Given the description of an element on the screen output the (x, y) to click on. 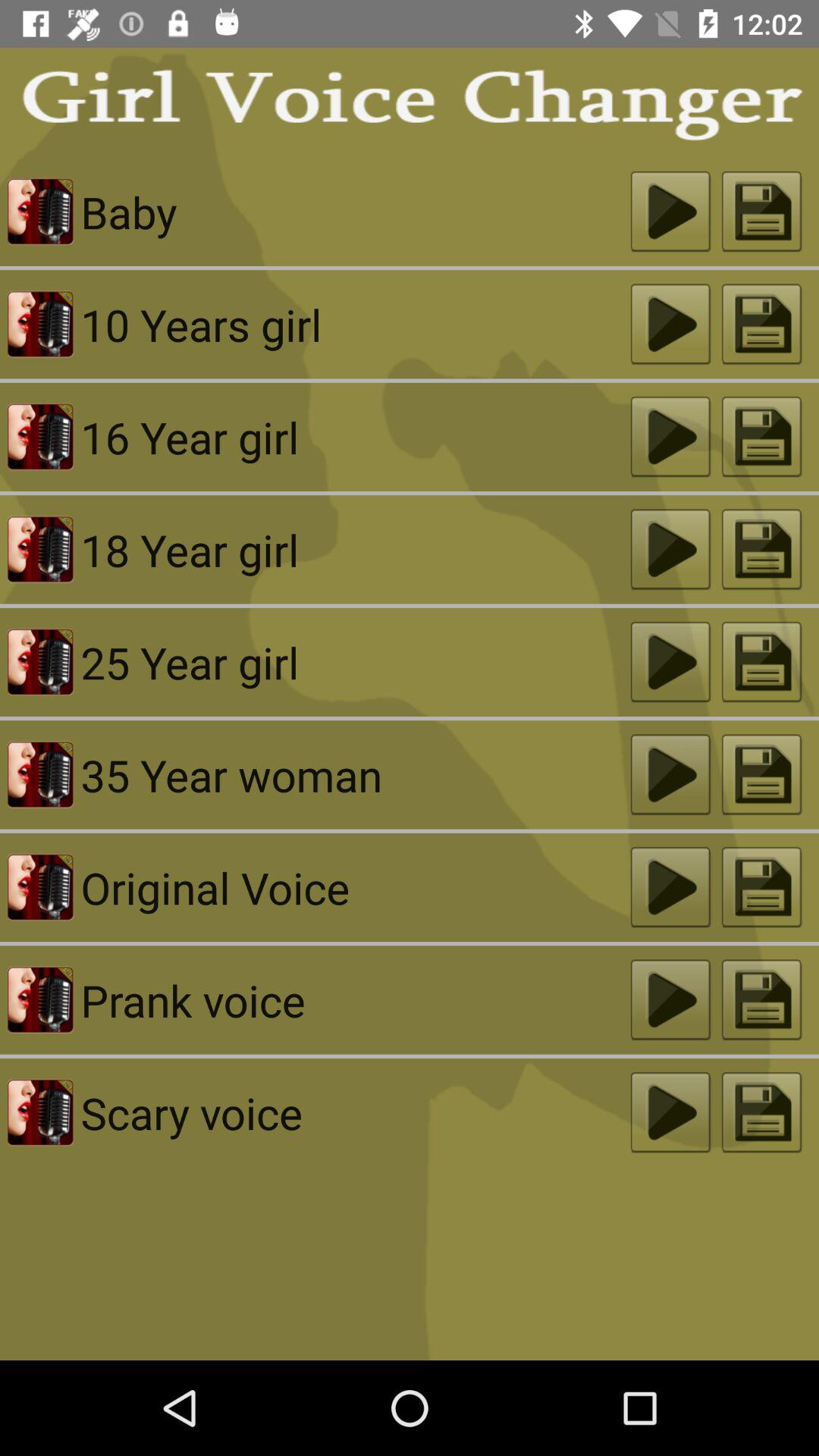
flip until the scary voice  item (355, 1112)
